Given the description of an element on the screen output the (x, y) to click on. 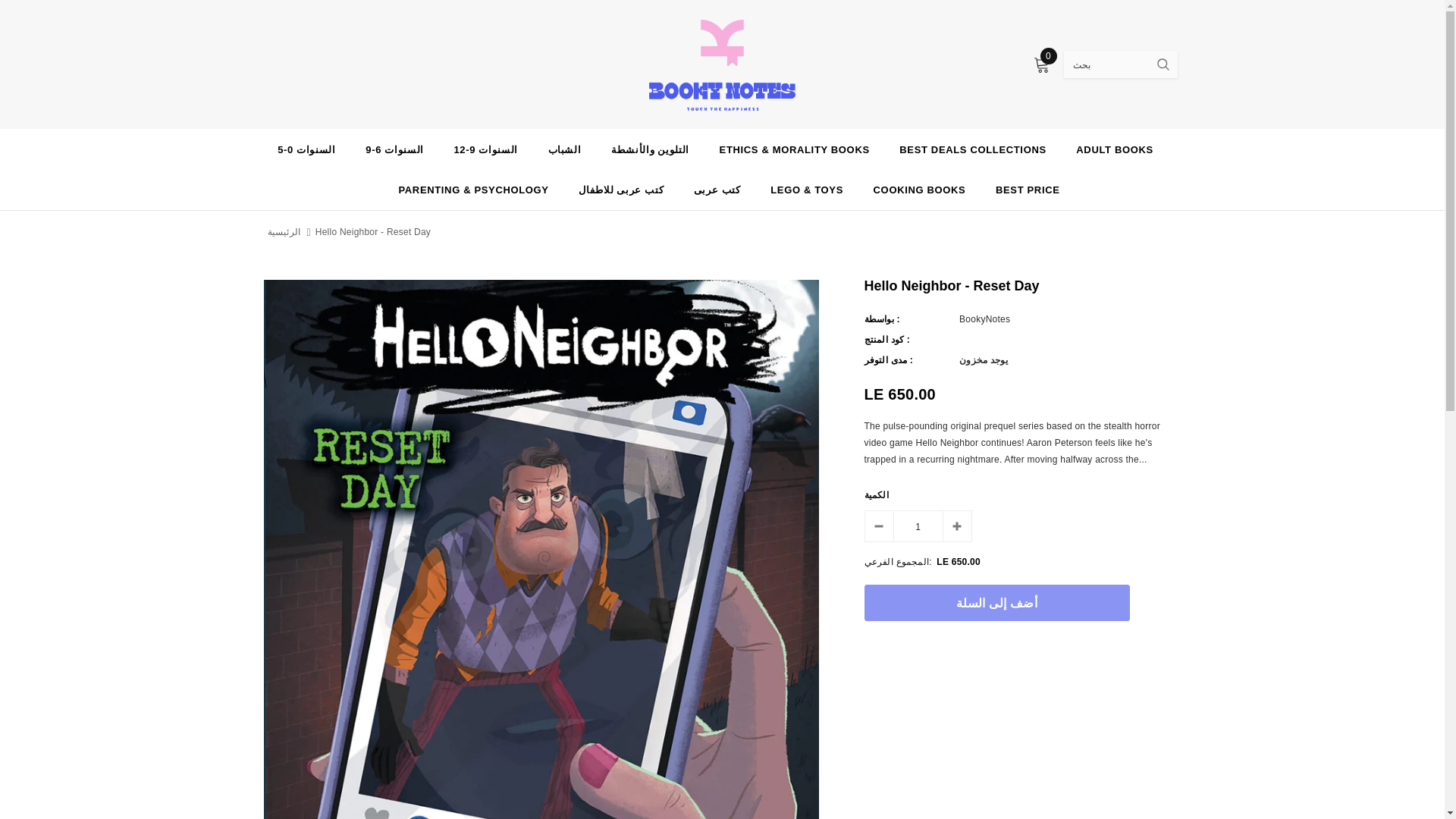
Logo (721, 63)
1 (917, 525)
Cart Icon (1040, 64)
0 (1040, 64)
